Given the description of an element on the screen output the (x, y) to click on. 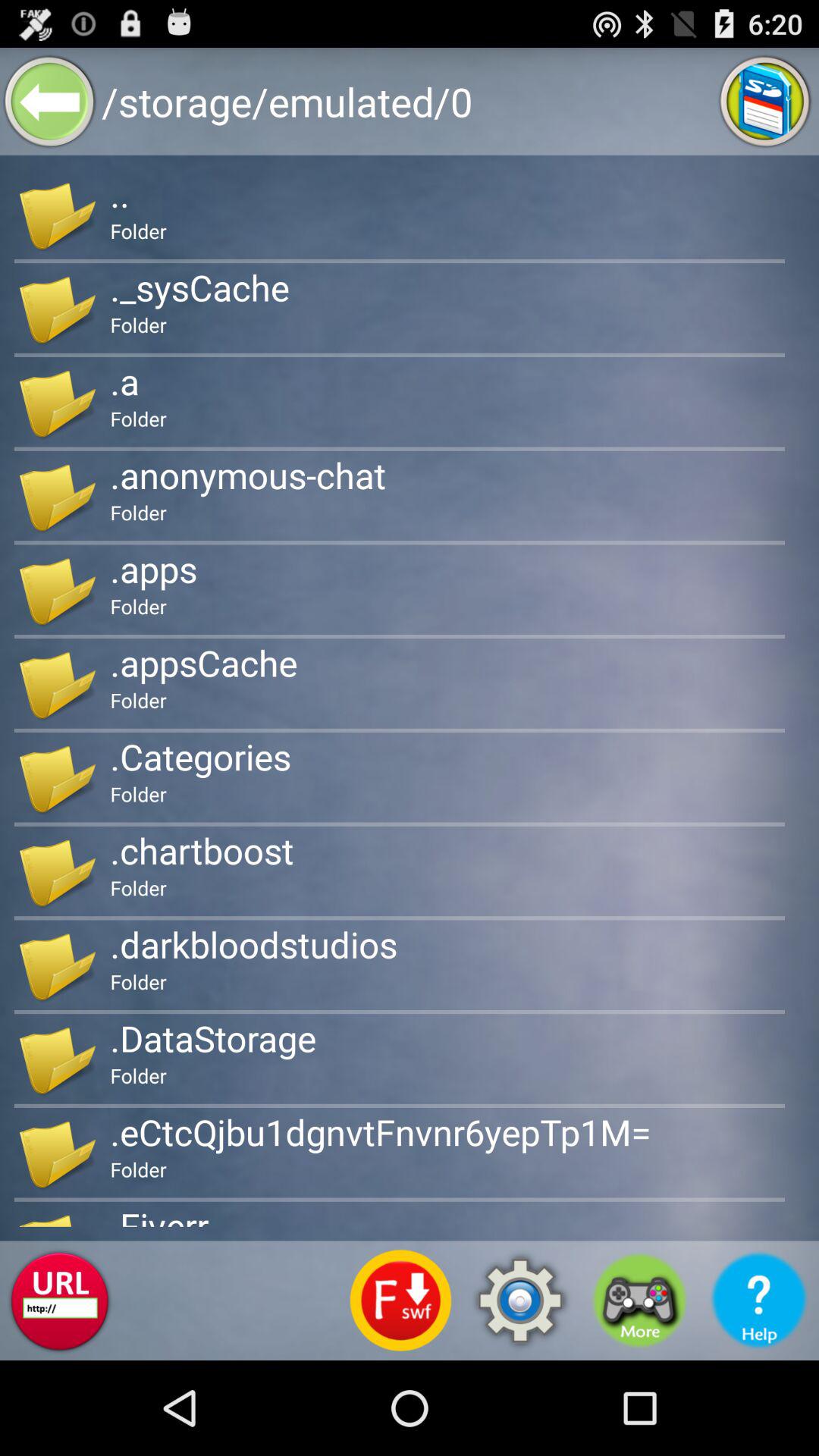
view sd storage (765, 101)
